Given the description of an element on the screen output the (x, y) to click on. 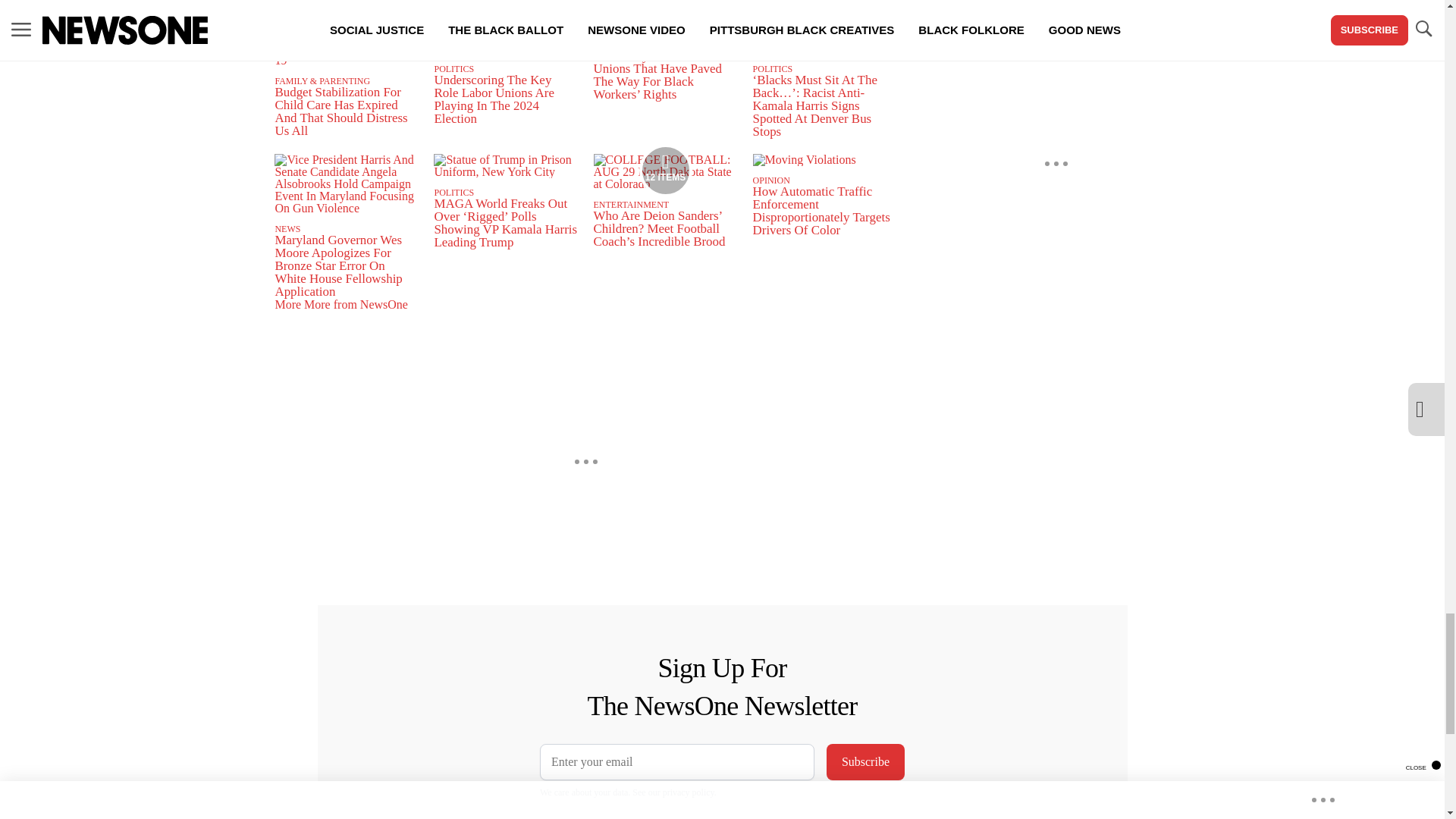
More from NewsOne (330, 11)
Media Playlist (666, 170)
Media Playlist (666, 24)
